Given the description of an element on the screen output the (x, y) to click on. 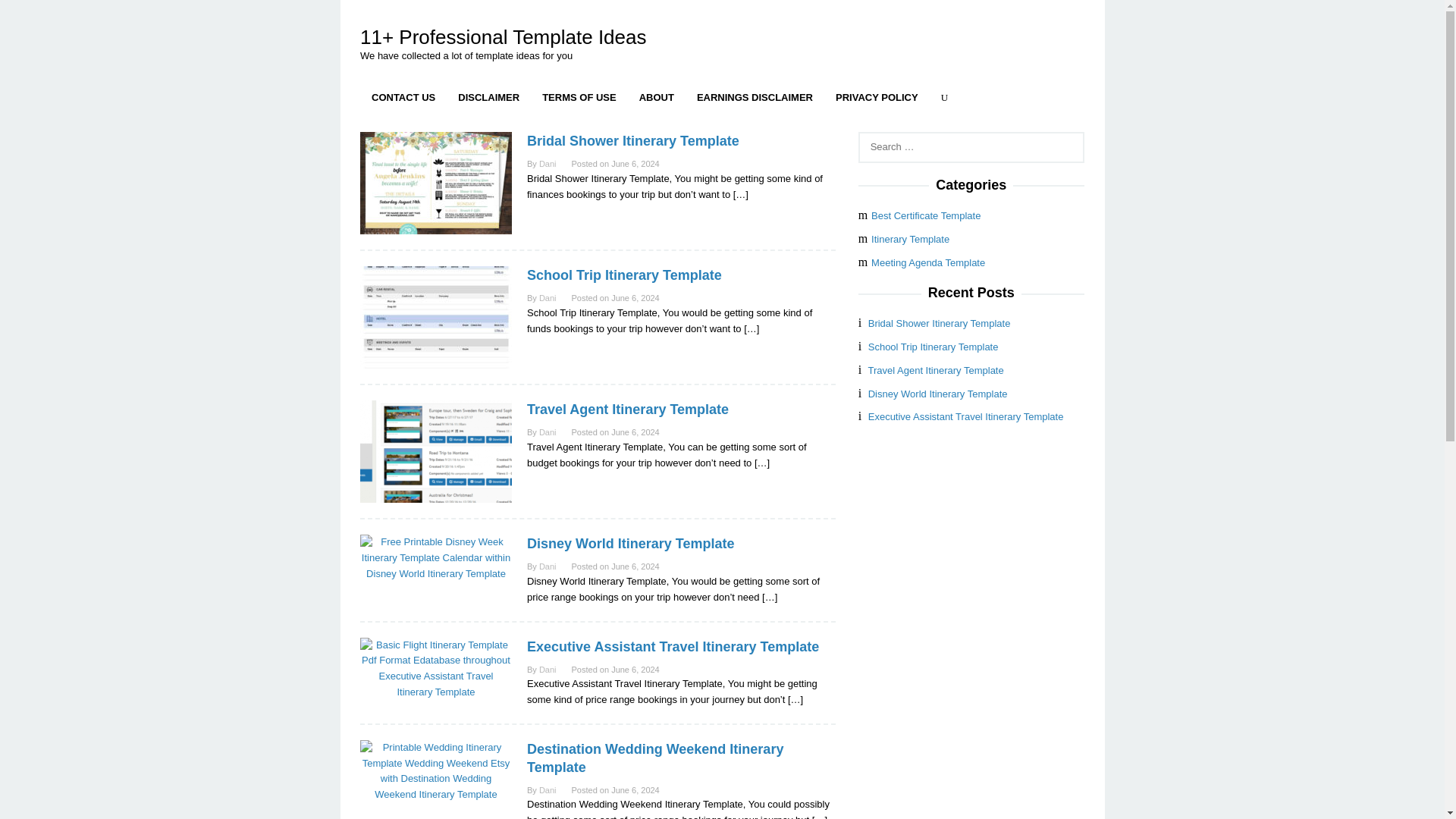
School Trip Itinerary Template (624, 274)
Permalink to: Executive Assistant Travel Itinerary Template (435, 668)
Permalink to: Dani (547, 431)
PRIVACY POLICY (877, 97)
Permalink to: Dani (547, 163)
CONTACT US (402, 97)
Dani (547, 669)
Dani (547, 297)
TERMS OF USE (579, 97)
Permalink to: School Trip Itinerary Template (435, 316)
Permalink to: Dani (547, 565)
Permalink to: School Trip Itinerary Template (624, 274)
Destination Wedding Weekend Itinerary Template (655, 758)
